Given the description of an element on the screen output the (x, y) to click on. 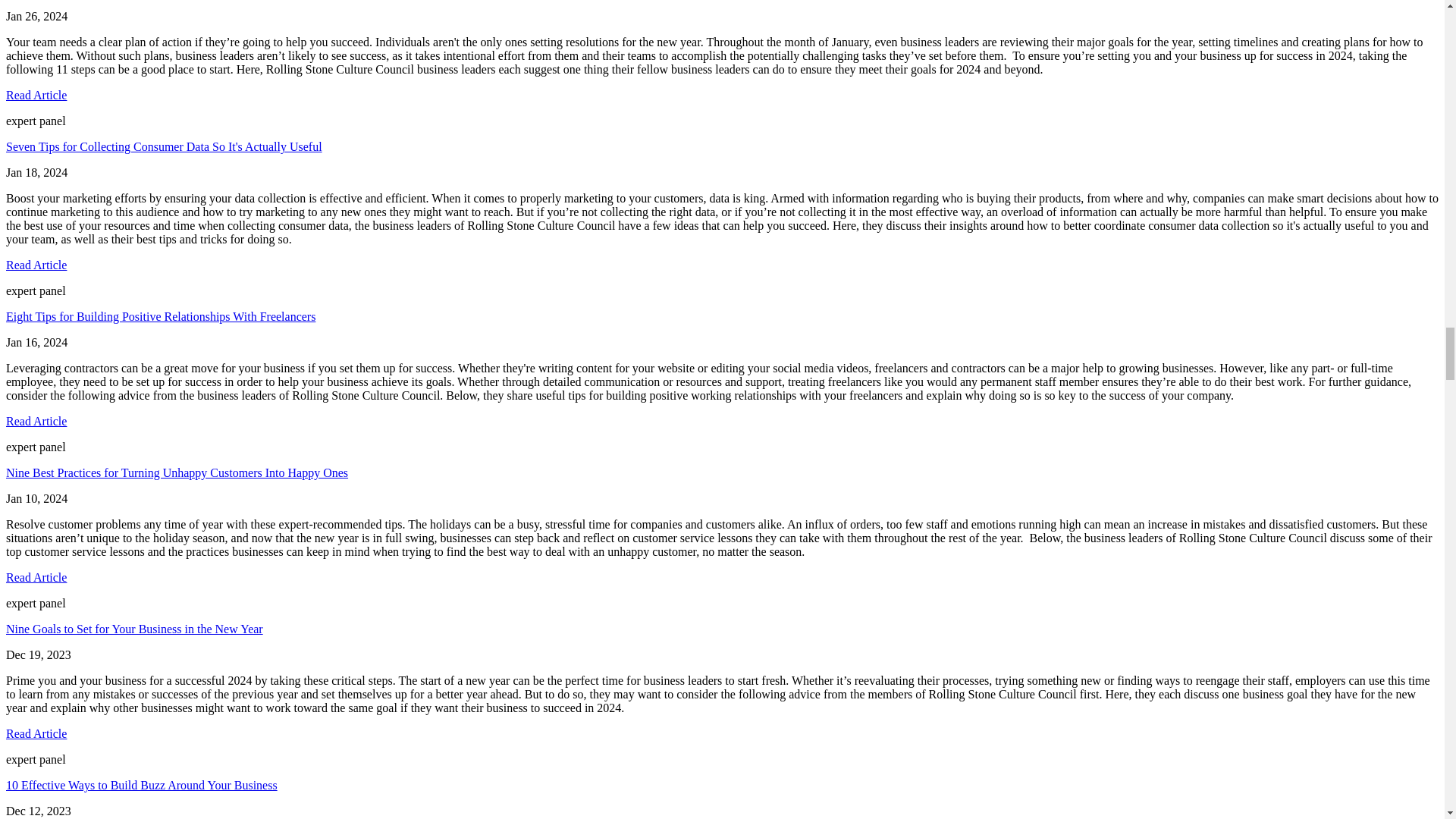
Read Article (35, 94)
